Given the description of an element on the screen output the (x, y) to click on. 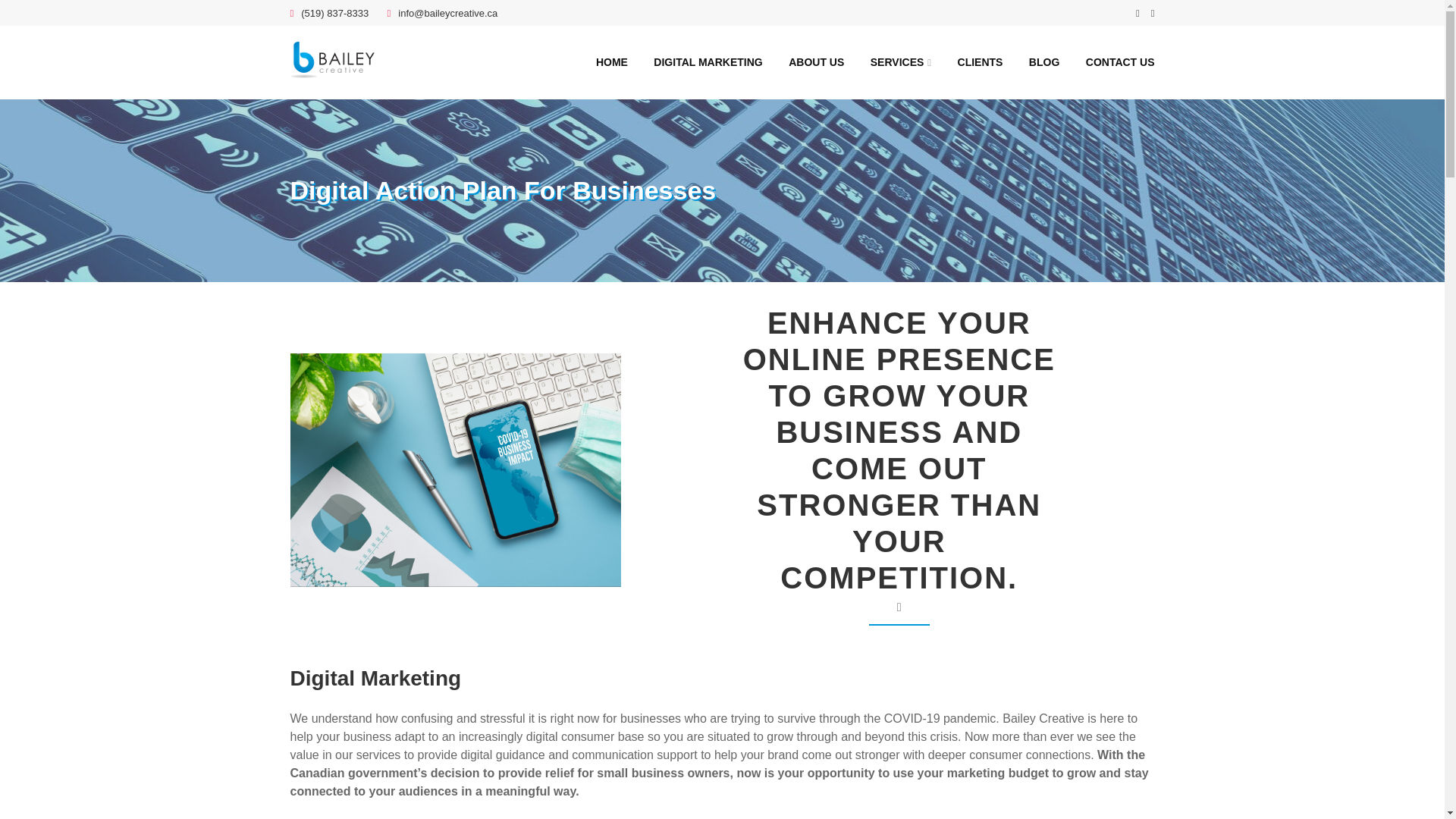
Linkedin (1152, 13)
Facebook (1137, 13)
ABOUT US (816, 62)
BLOG (1044, 62)
DIGITAL MARKETING (707, 62)
CONTACT US (1120, 62)
SERVICES (900, 62)
HOME (611, 62)
CLIENTS (980, 62)
